Given the description of an element on the screen output the (x, y) to click on. 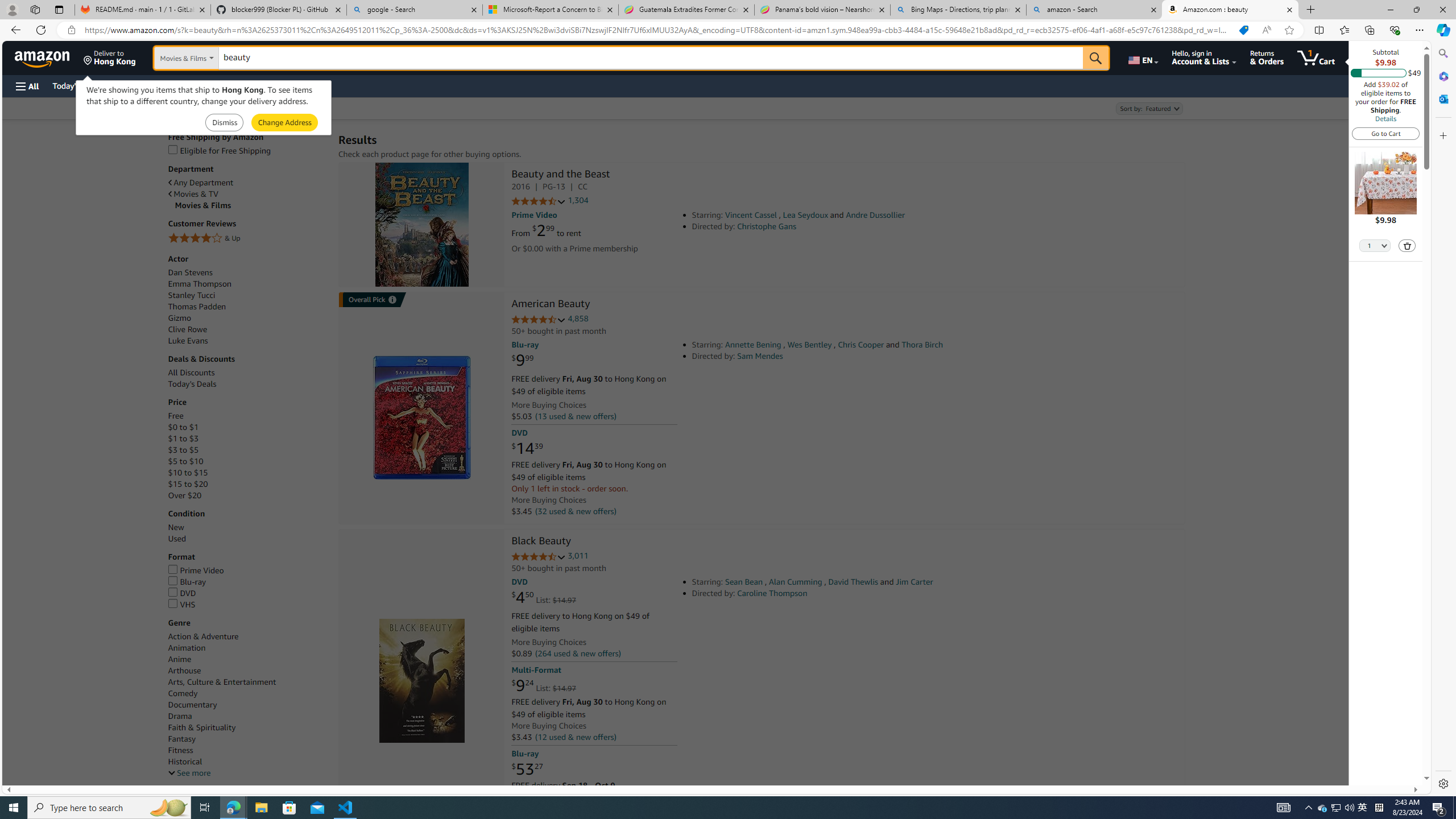
$10 to $15 (247, 472)
Animation (186, 647)
Directed by: Sam Mendes (850, 355)
Prime Video (195, 570)
Starring: Vincent Cassel , Lea Seydoux and Andre Dussollier (850, 215)
Arts, Culture & Entertainment (221, 681)
Blu-ray (247, 582)
Animation (247, 647)
$0 to $1 (247, 427)
Black Beauty (421, 681)
Black Beauty (541, 541)
Wes Bentley (809, 344)
Dan Stevens (189, 272)
$9.24 List: $14.97 (543, 685)
